Given the description of an element on the screen output the (x, y) to click on. 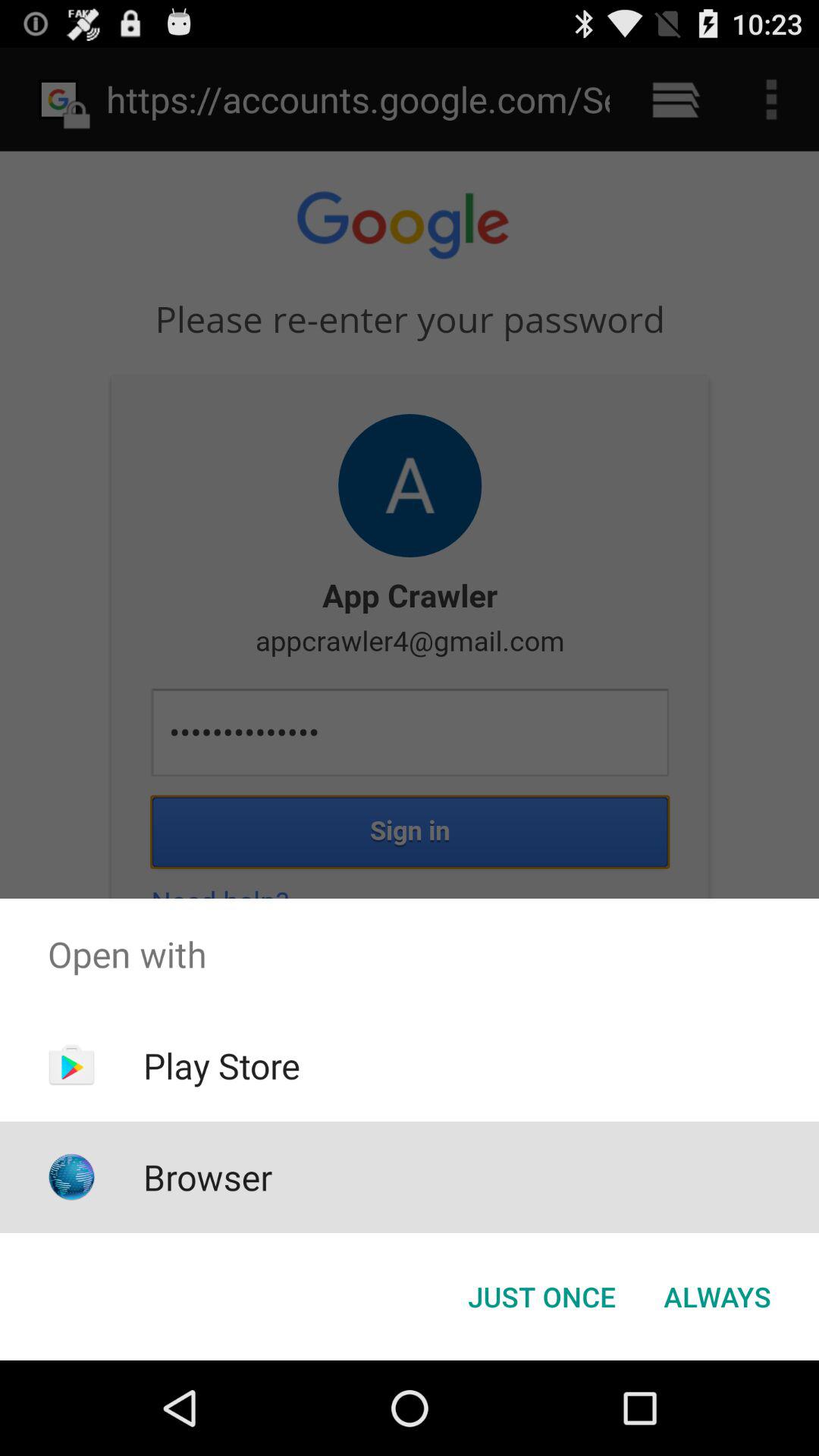
click play store app (221, 1065)
